Given the description of an element on the screen output the (x, y) to click on. 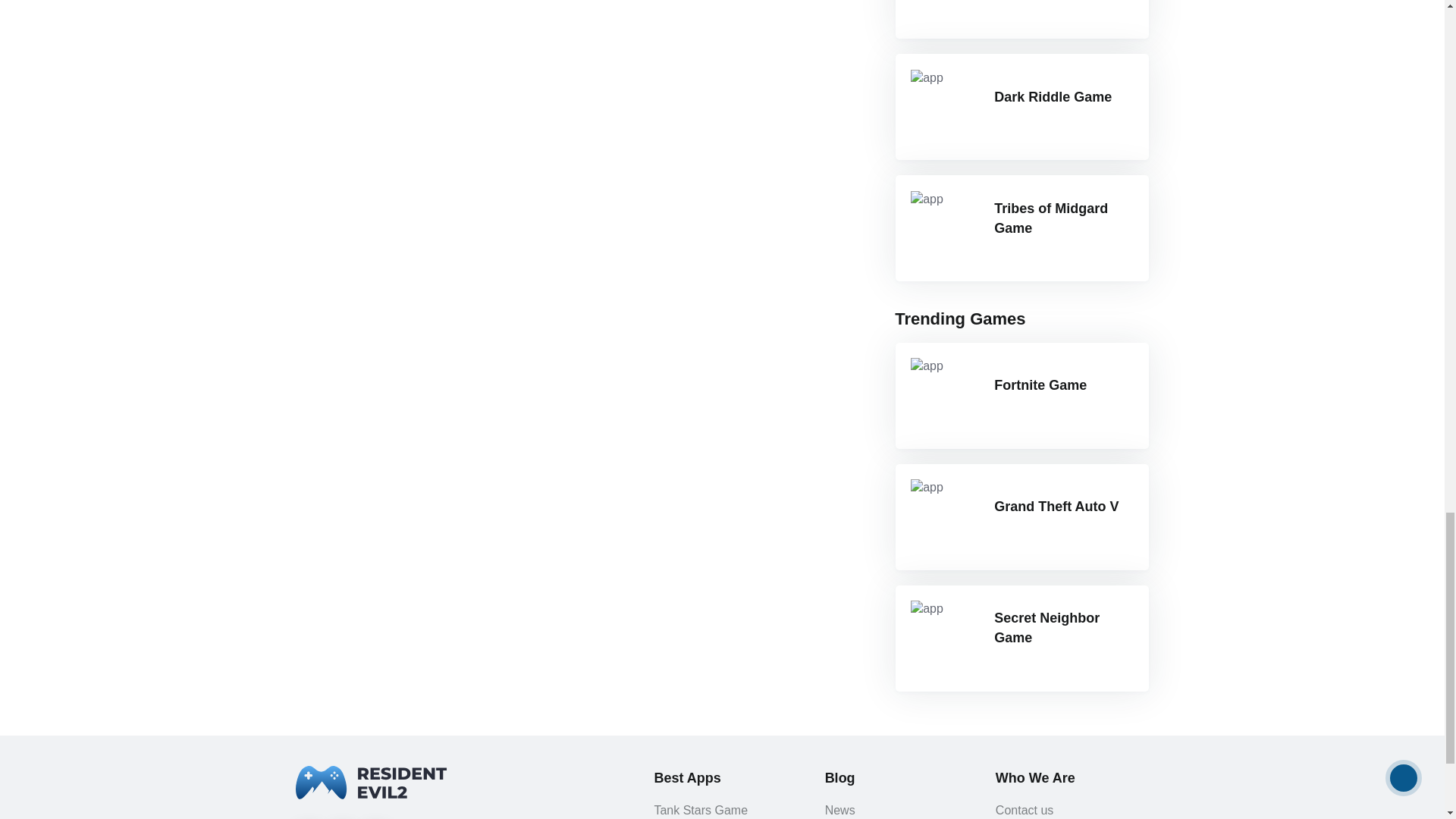
Secret Neighbor Game (1021, 638)
Tank Stars Game (1021, 19)
Grand Theft Auto V (1021, 517)
Tank Stars Game (726, 810)
Dark Riddle Game (1021, 106)
Tribes of Midgard Game (1021, 228)
Fortnite Game (1021, 395)
News (898, 810)
